Given the description of an element on the screen output the (x, y) to click on. 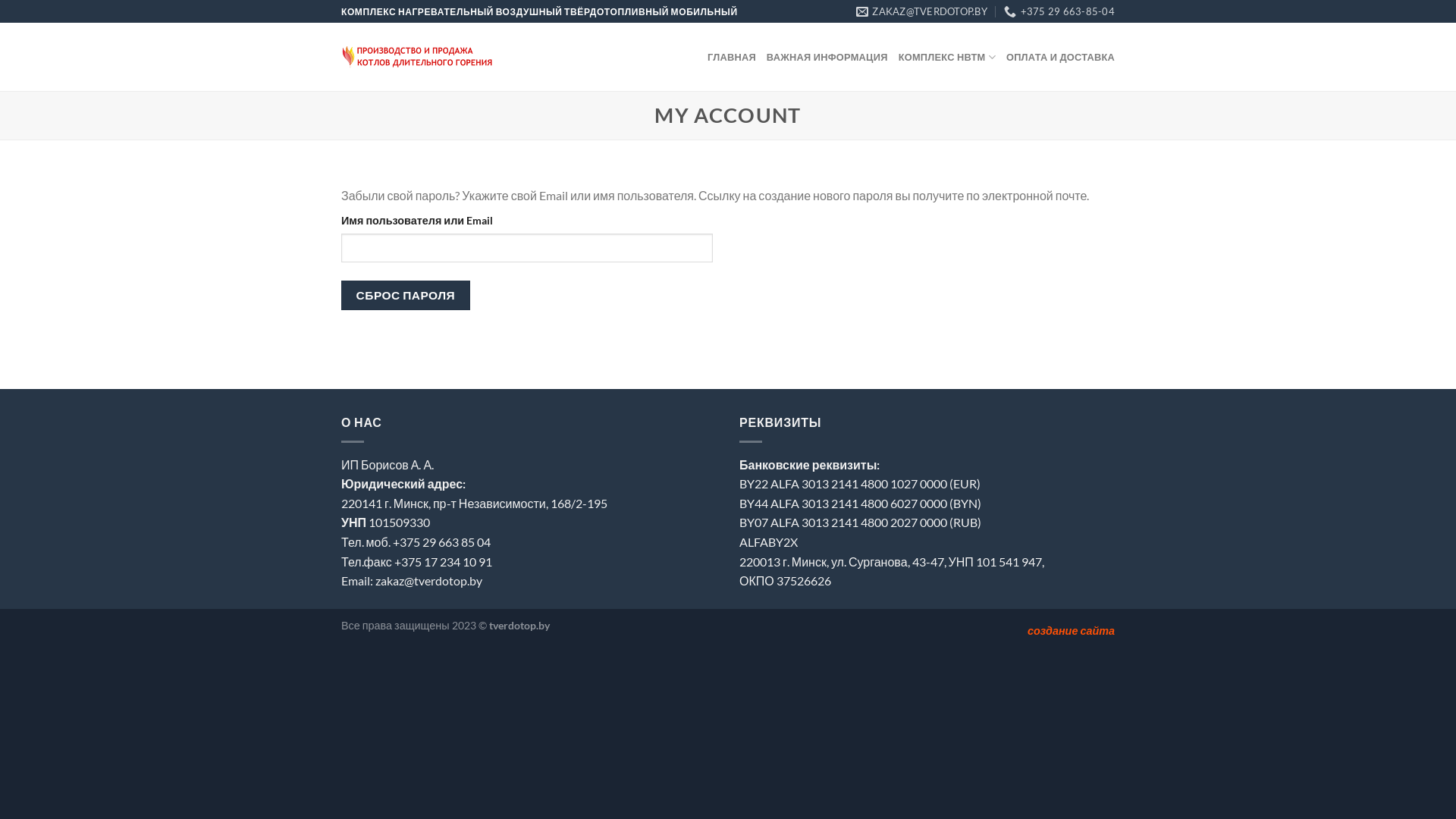
ZAKAZ@TVERDOTOP.BY Element type: text (921, 11)
+375 29 663-85-04 Element type: text (1059, 11)
+375 17 234 10 91 Element type: text (443, 561)
+375 29 663 85 04 Element type: text (441, 541)
zakaz@tverdotop.by Element type: text (428, 580)
